Given the description of an element on the screen output the (x, y) to click on. 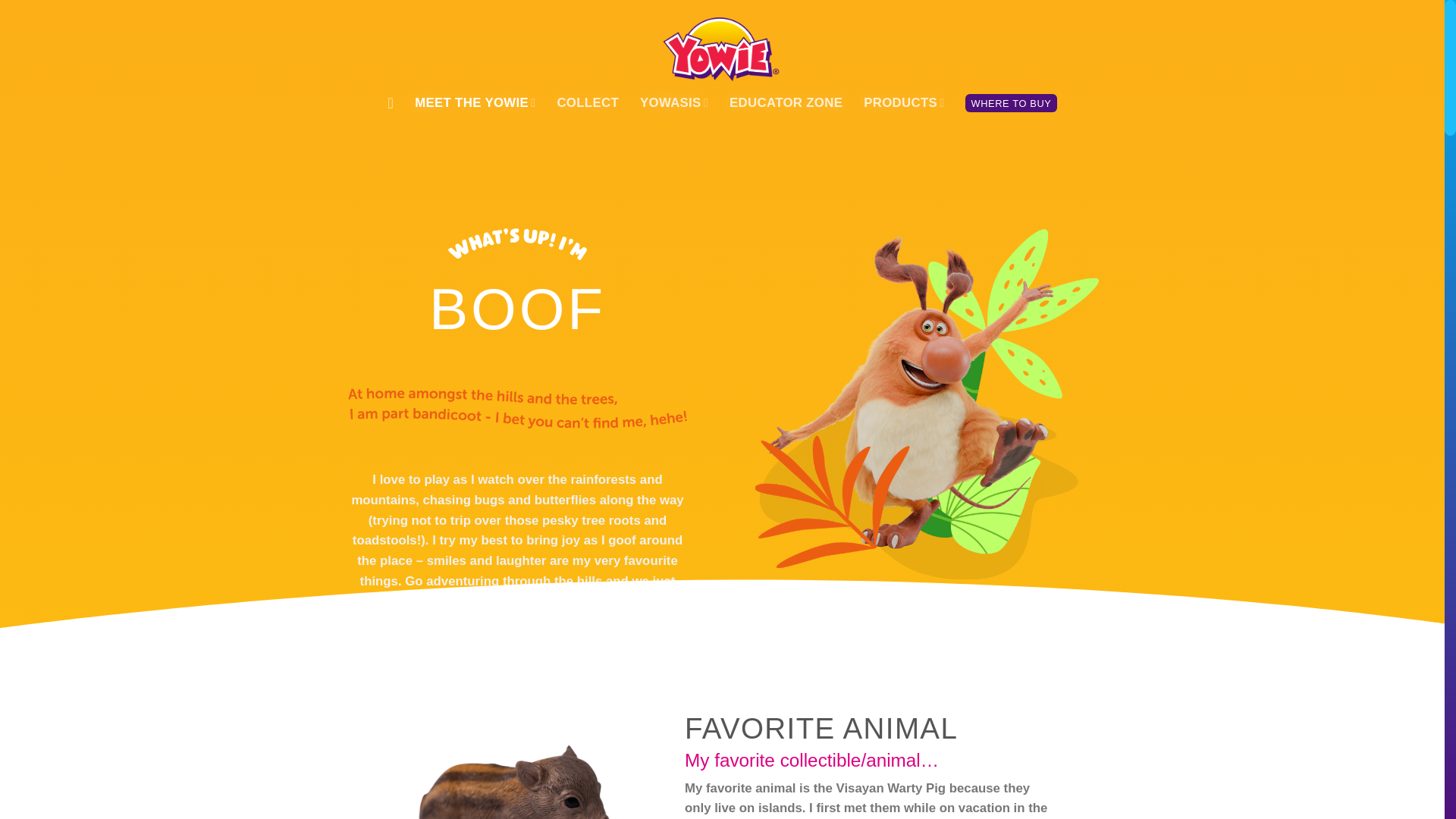
COLLECT (587, 102)
MEET THE YOWIE (474, 102)
WHERE TO BUY (1011, 103)
PRODUCTS (903, 102)
EDUCATOR ZONE (786, 102)
YOWASIS (673, 102)
